Given the description of an element on the screen output the (x, y) to click on. 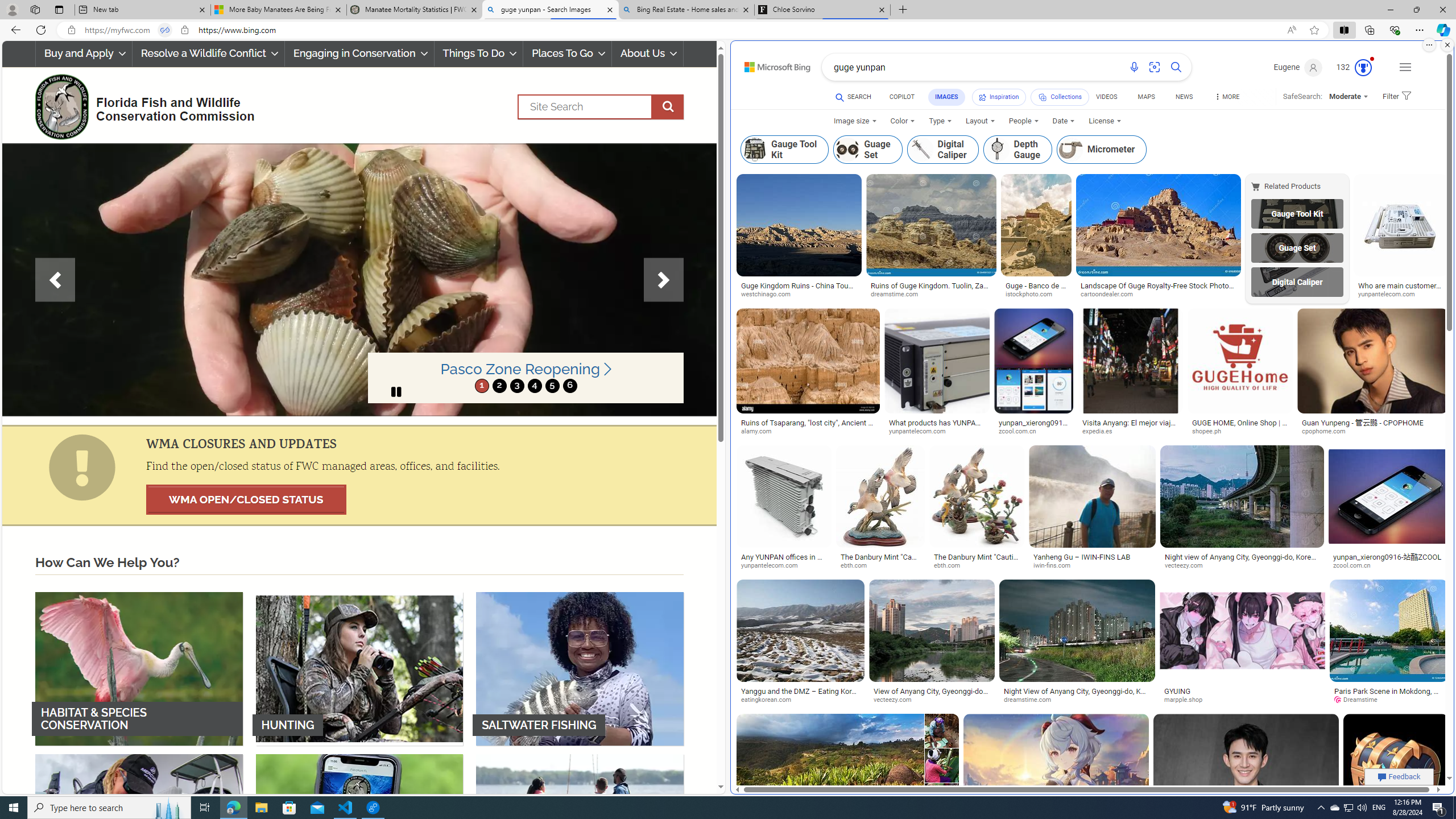
Things To Do (478, 53)
Microsoft Rewards 132 (1354, 67)
GYUINGmarpple.shopSave (1243, 644)
iwin-fins.com (1055, 565)
cartoondealer.com (1110, 294)
Image size (855, 121)
Filter (1394, 96)
